Given the description of an element on the screen output the (x, y) to click on. 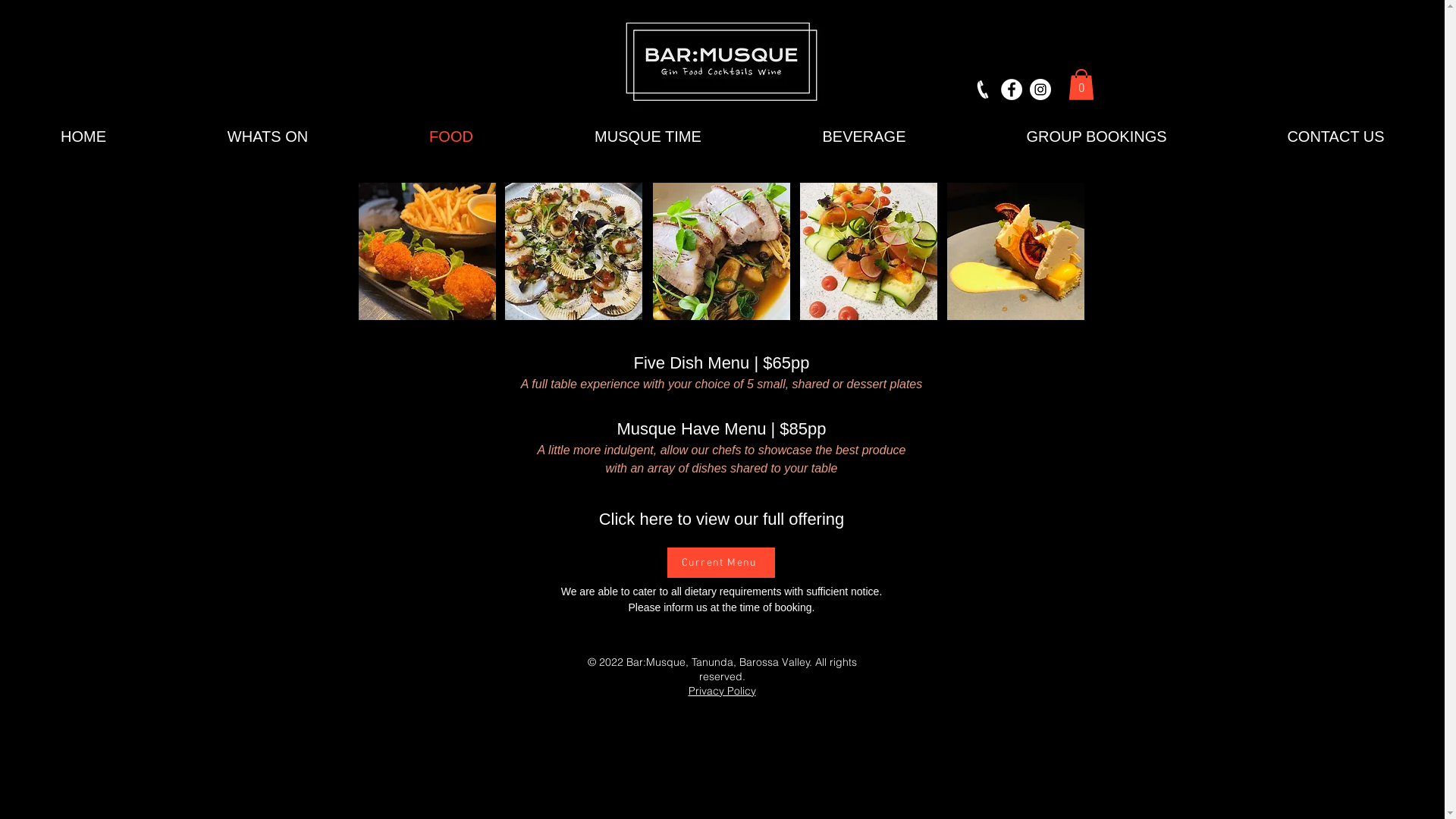
FOOD Element type: text (450, 136)
BEVERAGE Element type: text (864, 136)
WHATS ON Element type: text (267, 136)
0 Element type: text (1080, 84)
GROUP BOOKINGS Element type: text (1096, 136)
HOME Element type: text (83, 136)
MUSQUE TIME Element type: text (647, 136)
CONTACT US Element type: text (1335, 136)
Privacy Policy Element type: text (722, 691)
Current Menu Element type: text (721, 562)
